Given the description of an element on the screen output the (x, y) to click on. 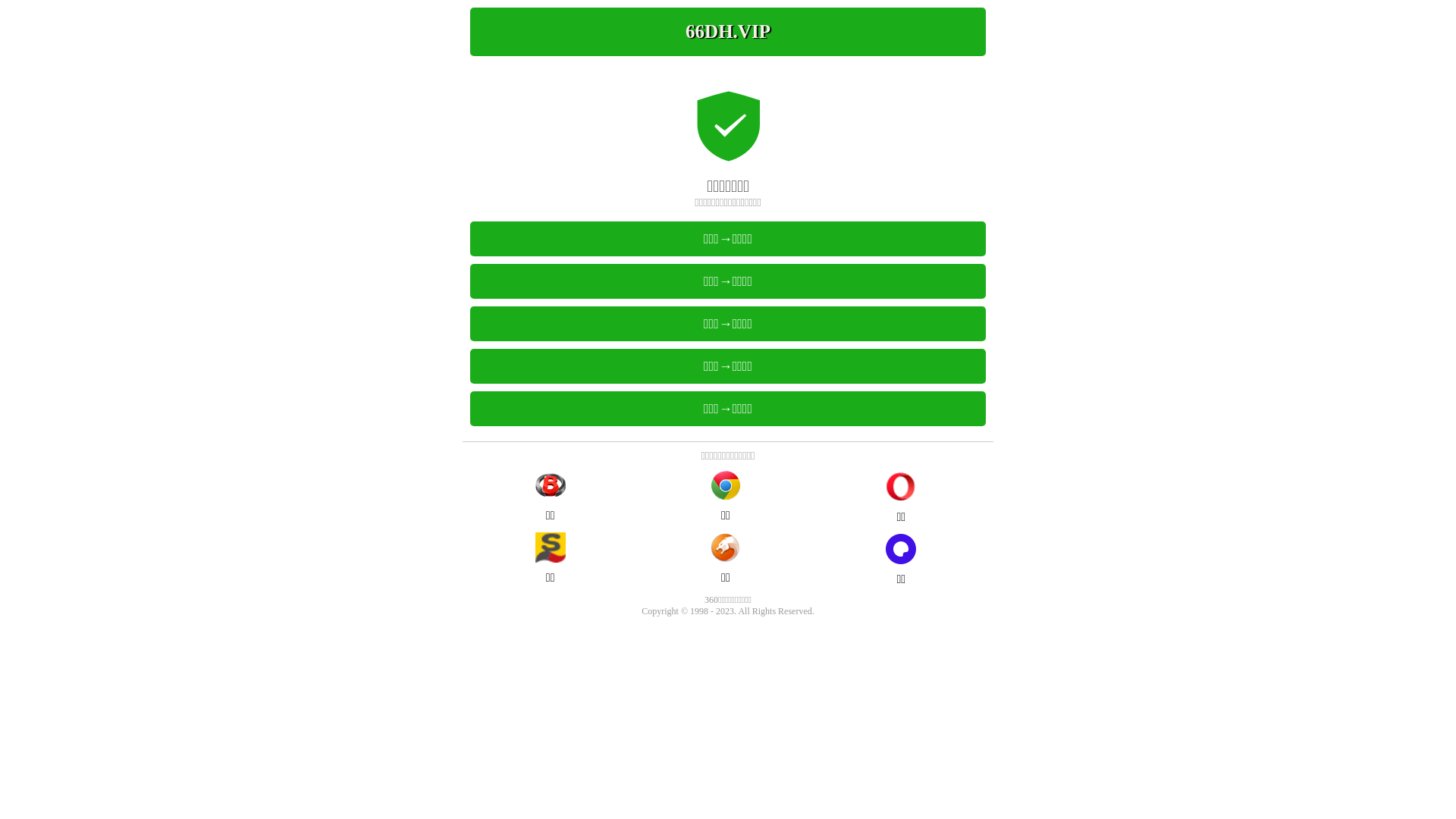
66DH.VIP Element type: text (727, 31)
